Given the description of an element on the screen output the (x, y) to click on. 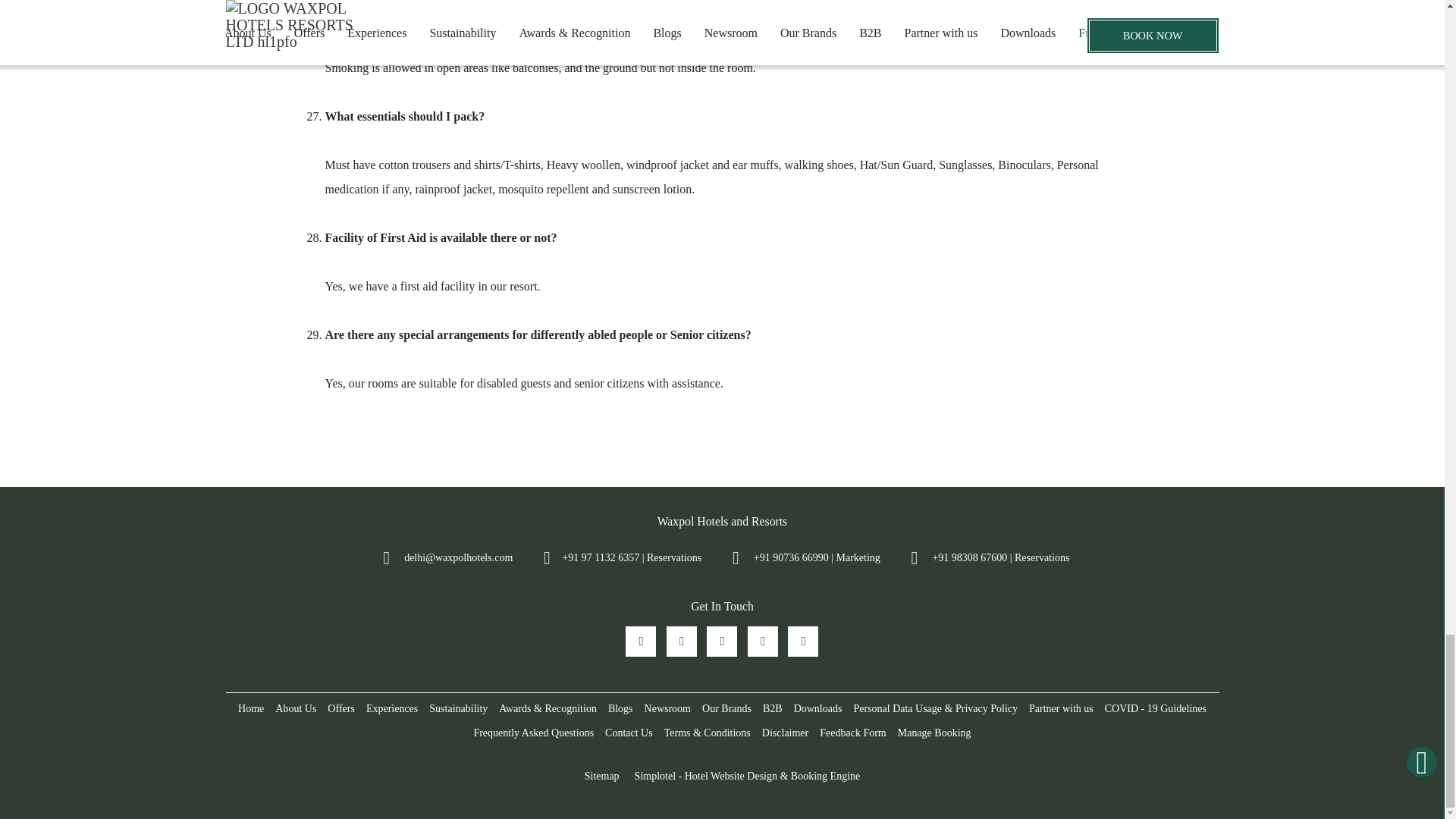
Home (250, 709)
Experiences (391, 709)
Offers (341, 709)
click here for sitemap (602, 776)
About Us (295, 709)
